Given the description of an element on the screen output the (x, y) to click on. 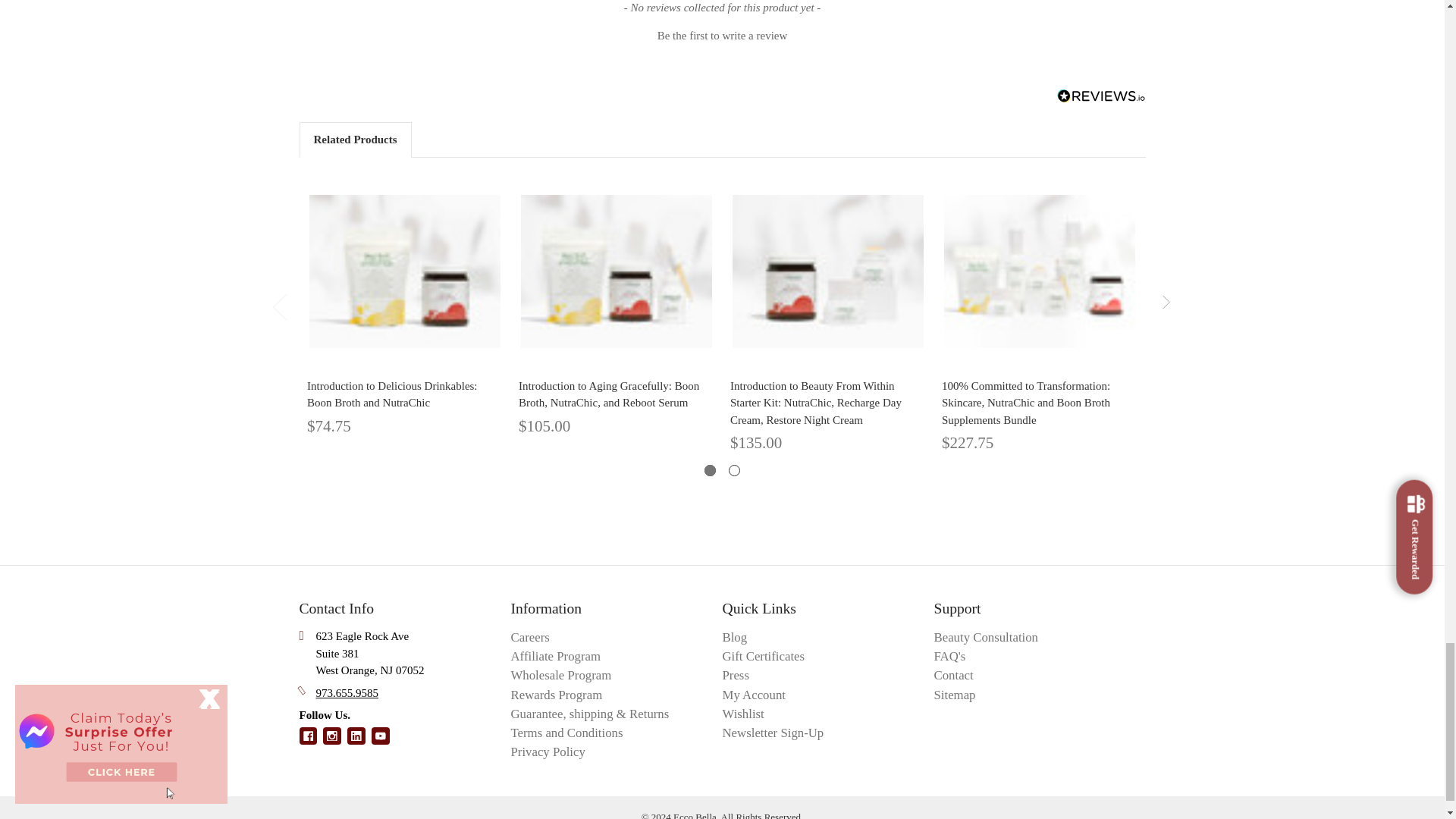
youtube (380, 736)
instagram (331, 736)
linkedin (355, 736)
facebook (308, 736)
